Given the description of an element on the screen output the (x, y) to click on. 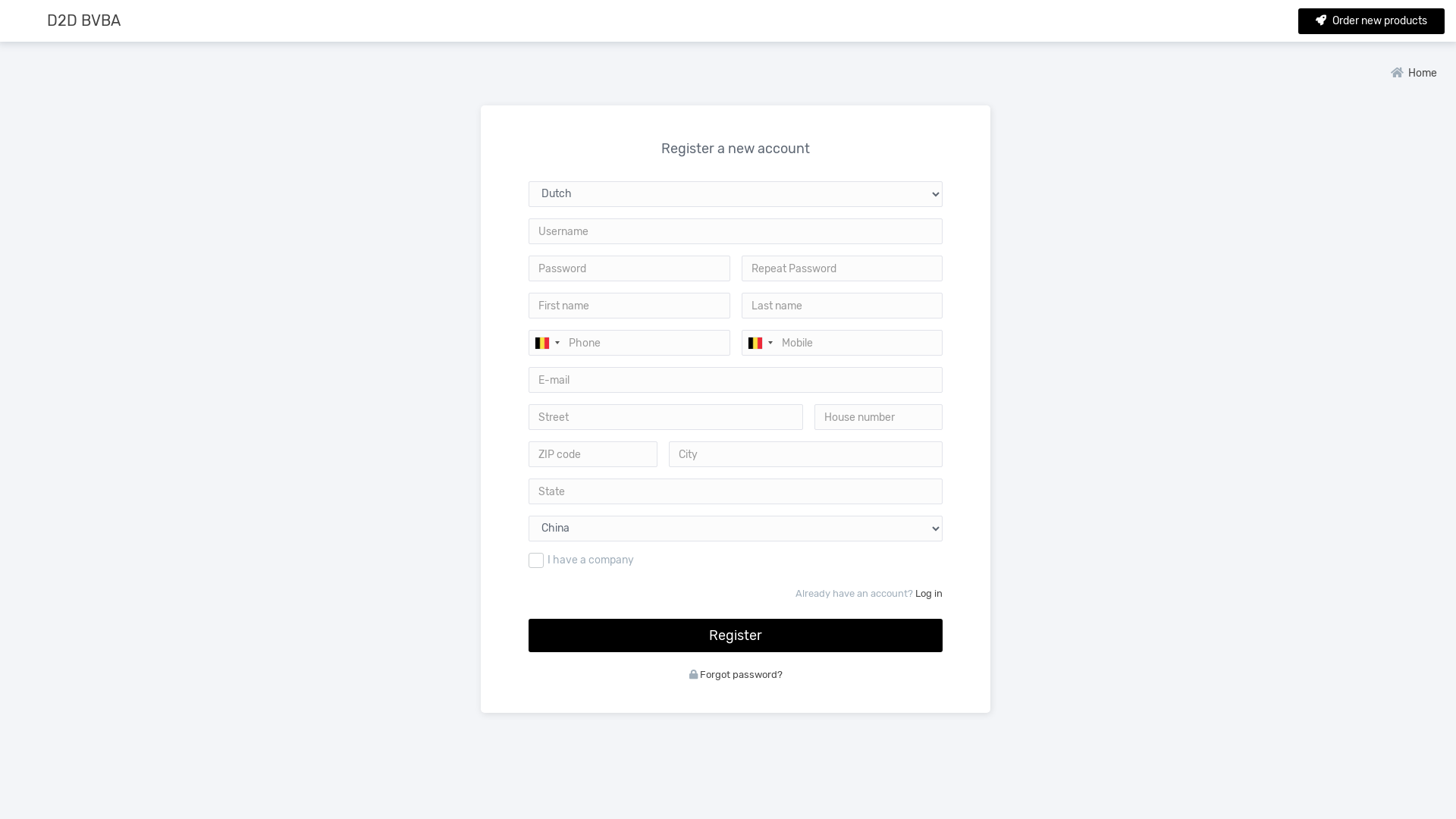
Home Element type: text (1413, 72)
Log in Element type: text (927, 593)
Order new products Element type: text (1371, 21)
D2D BVBA Element type: text (83, 20)
Forgot password? Element type: text (740, 674)
Register Element type: text (735, 635)
